Given the description of an element on the screen output the (x, y) to click on. 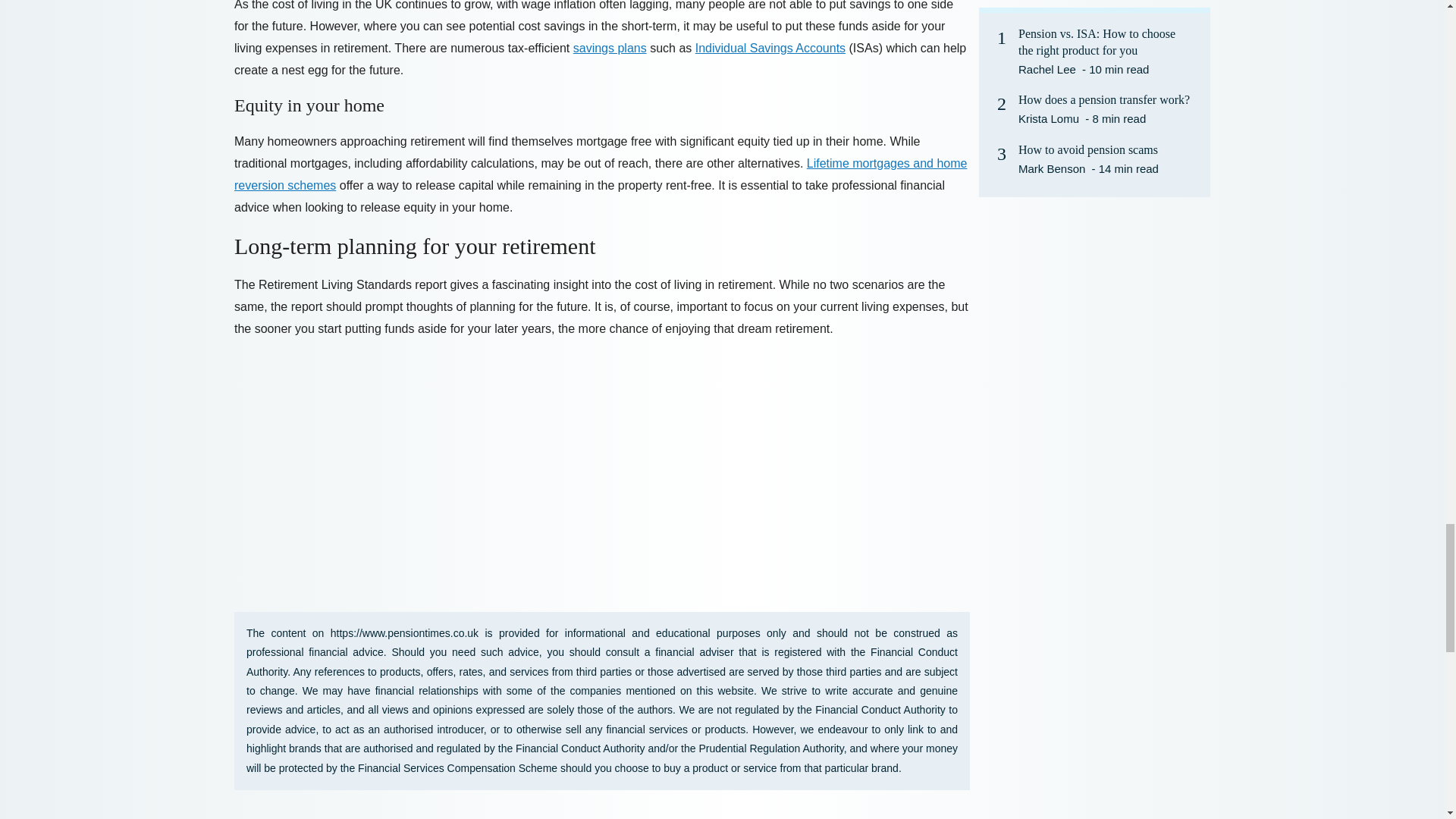
Lifetime mortgages and home reversion schemes (600, 174)
Individual Savings Accounts (770, 47)
savings plans (609, 47)
